Given the description of an element on the screen output the (x, y) to click on. 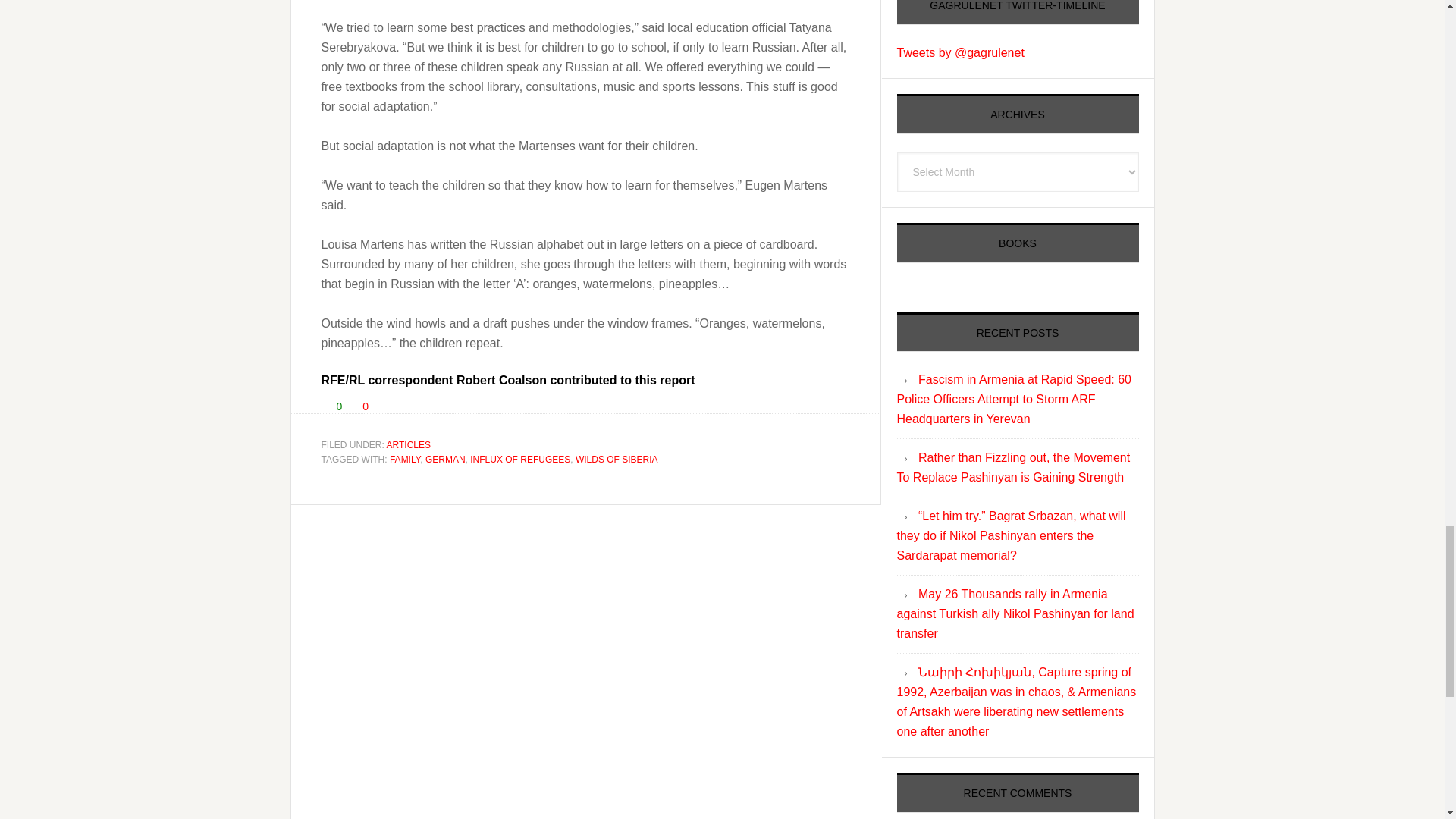
ARTICLES (408, 444)
WILDS OF SIBERIA (616, 459)
FAMILY (405, 459)
INFLUX OF REFUGEES (520, 459)
GERMAN (445, 459)
